Given the description of an element on the screen output the (x, y) to click on. 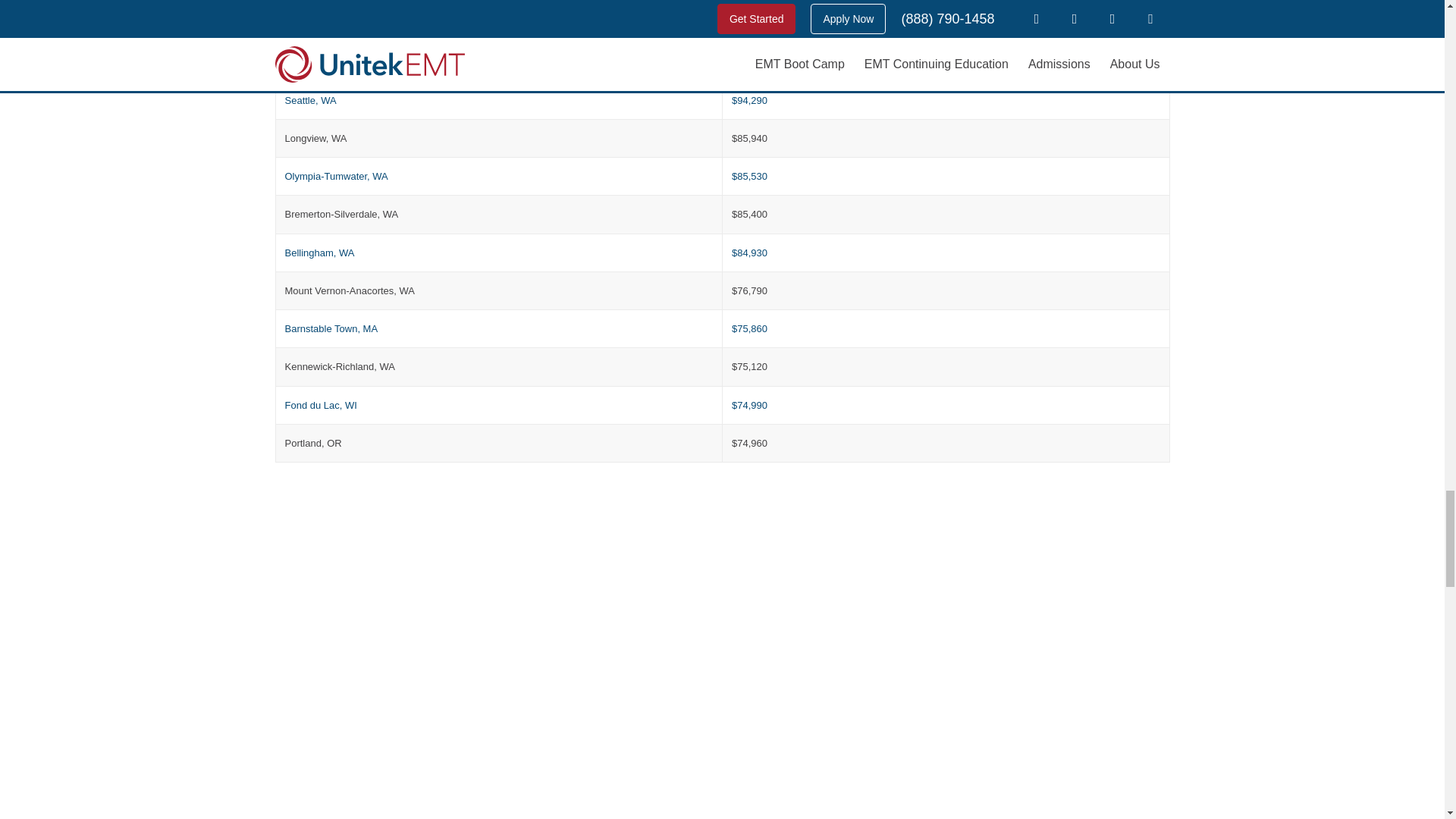
BLS (740, 21)
